Given the description of an element on the screen output the (x, y) to click on. 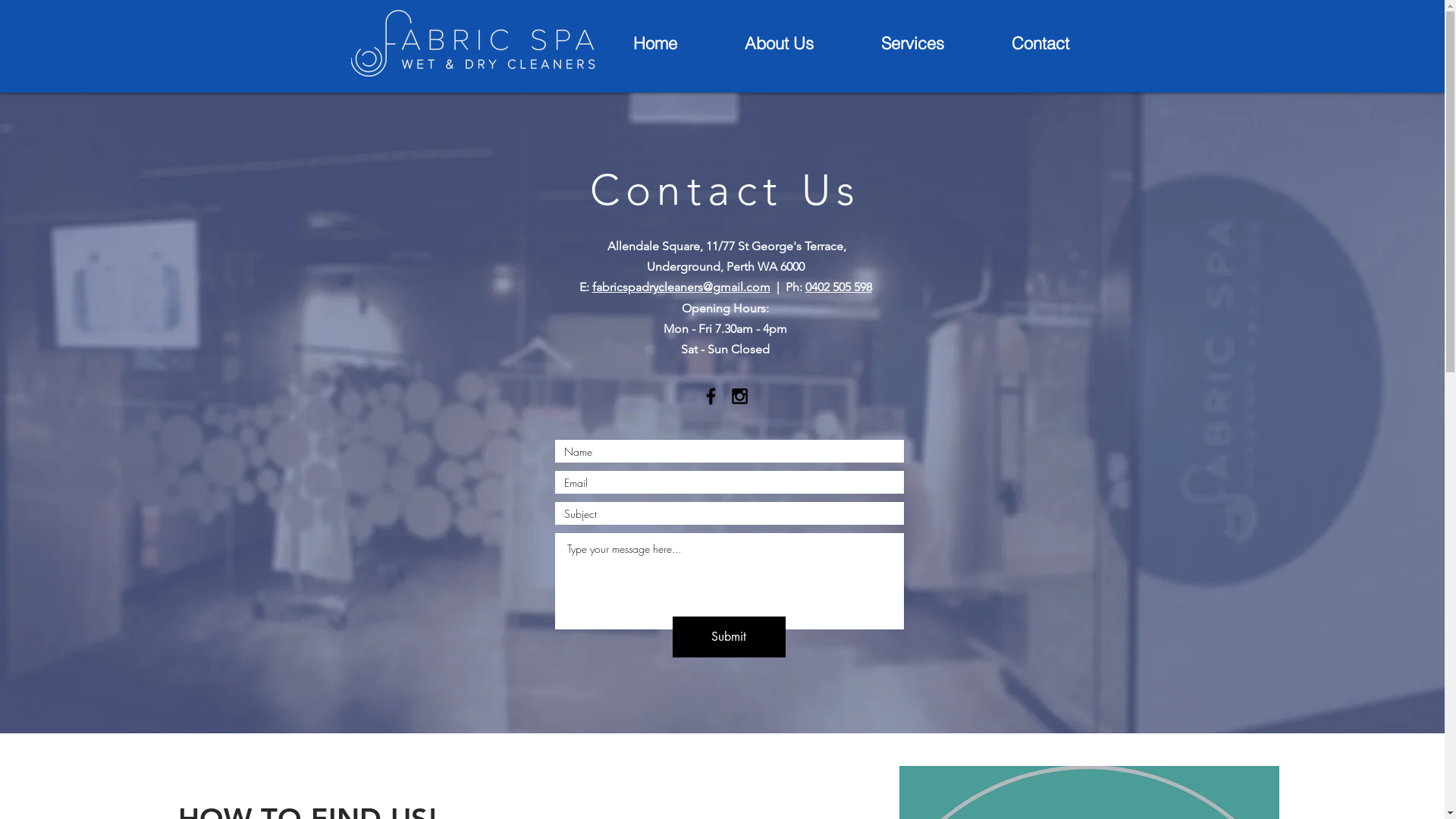
Submit Element type: text (727, 636)
0402 505 598 Element type: text (838, 286)
Services Element type: text (912, 42)
About Us Element type: text (779, 42)
Home Element type: text (654, 42)
Contact Element type: text (1040, 42)
fabricspadrycleaners@gmail.com Element type: text (680, 286)
